Given the description of an element on the screen output the (x, y) to click on. 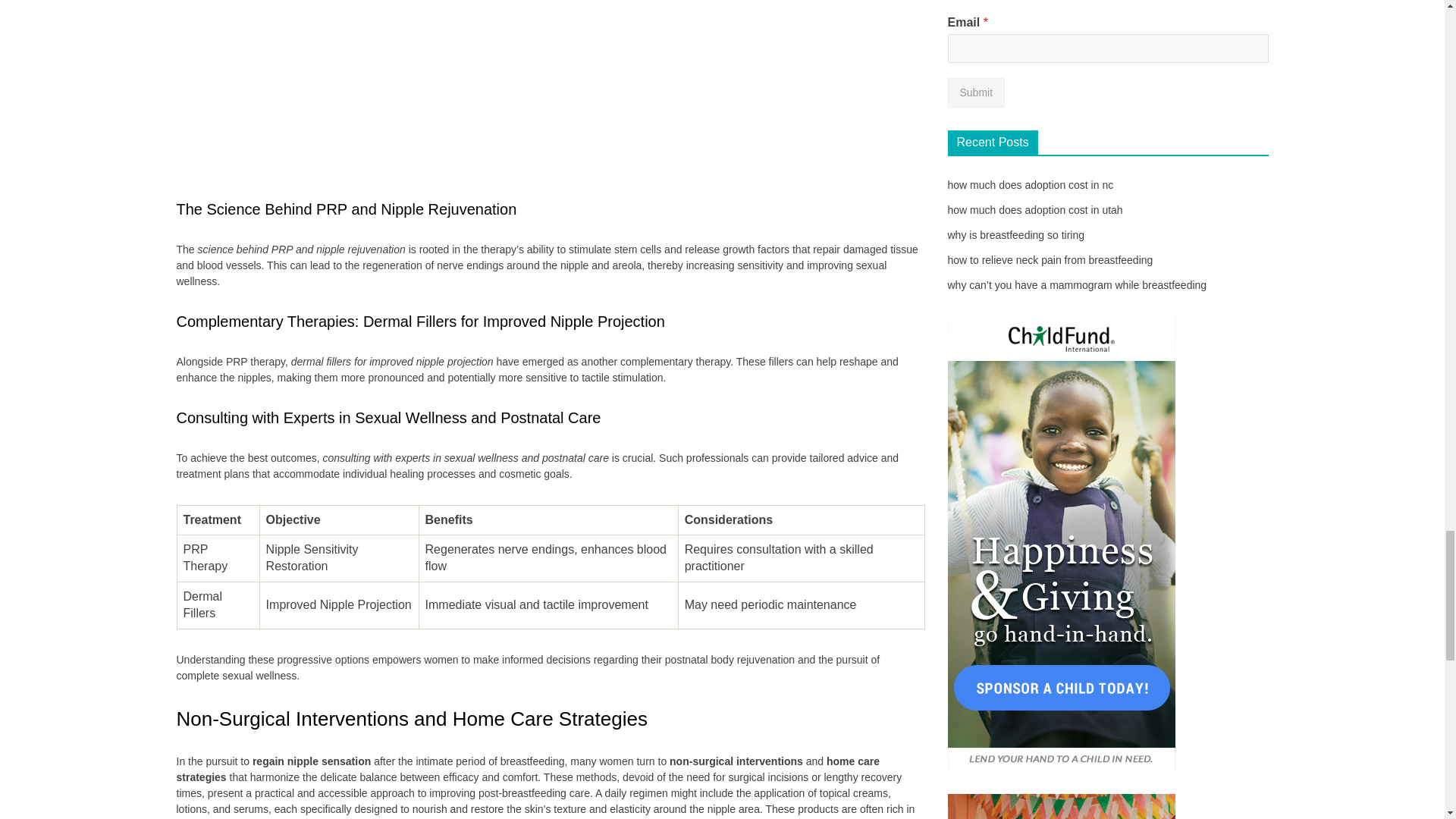
PRP therapy and nipple rejuvenation process (550, 88)
